Given the description of an element on the screen output the (x, y) to click on. 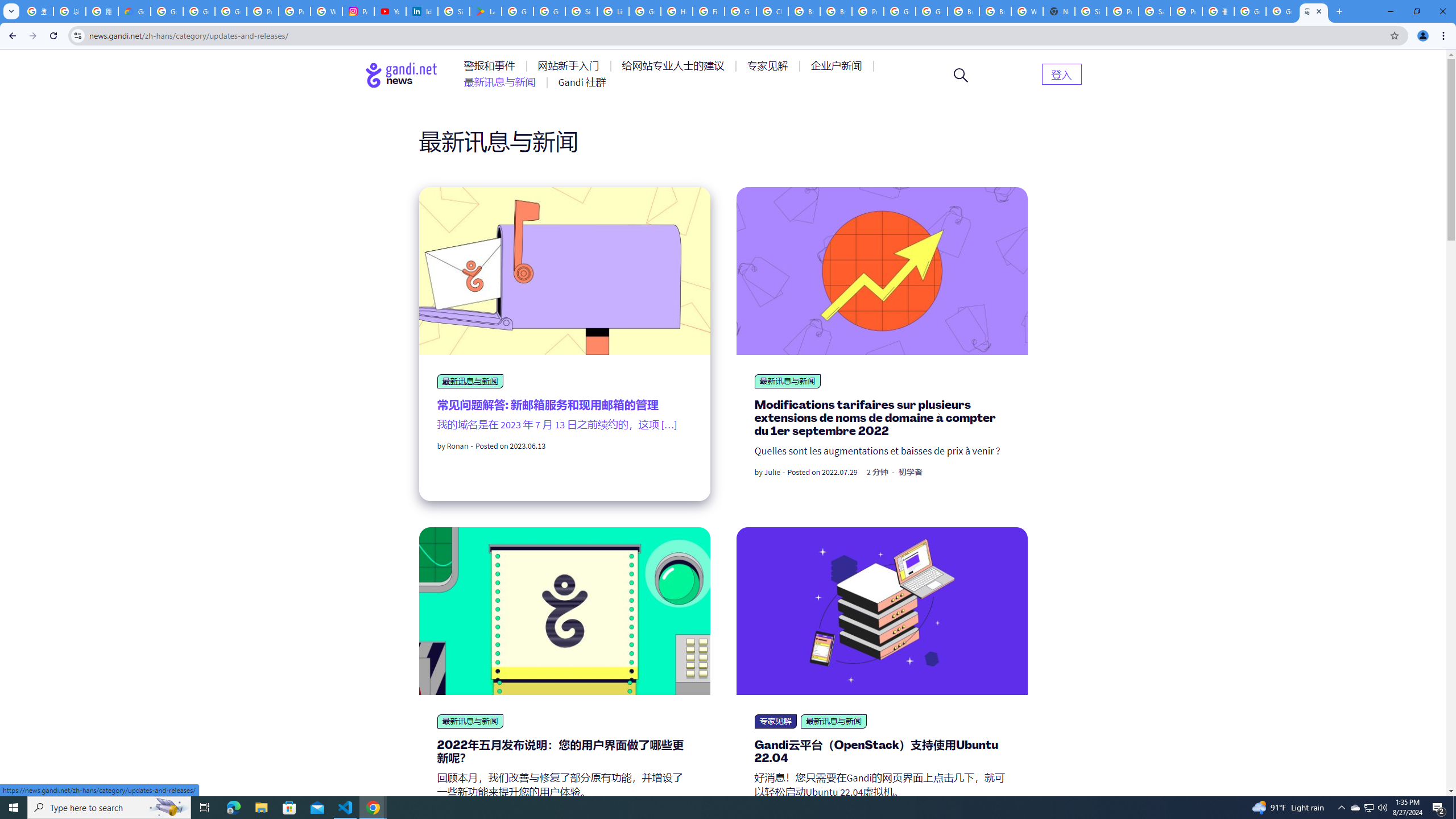
Ronan (457, 445)
AutomationID: menu-item-77761 (492, 65)
AutomationID: menu-item-77764 (769, 65)
Privacy Help Center - Policies Help (262, 11)
Sign in - Google Accounts (1091, 11)
Google Cloud Platform (931, 11)
Google Cloud Platform (899, 11)
